Given the description of an element on the screen output the (x, y) to click on. 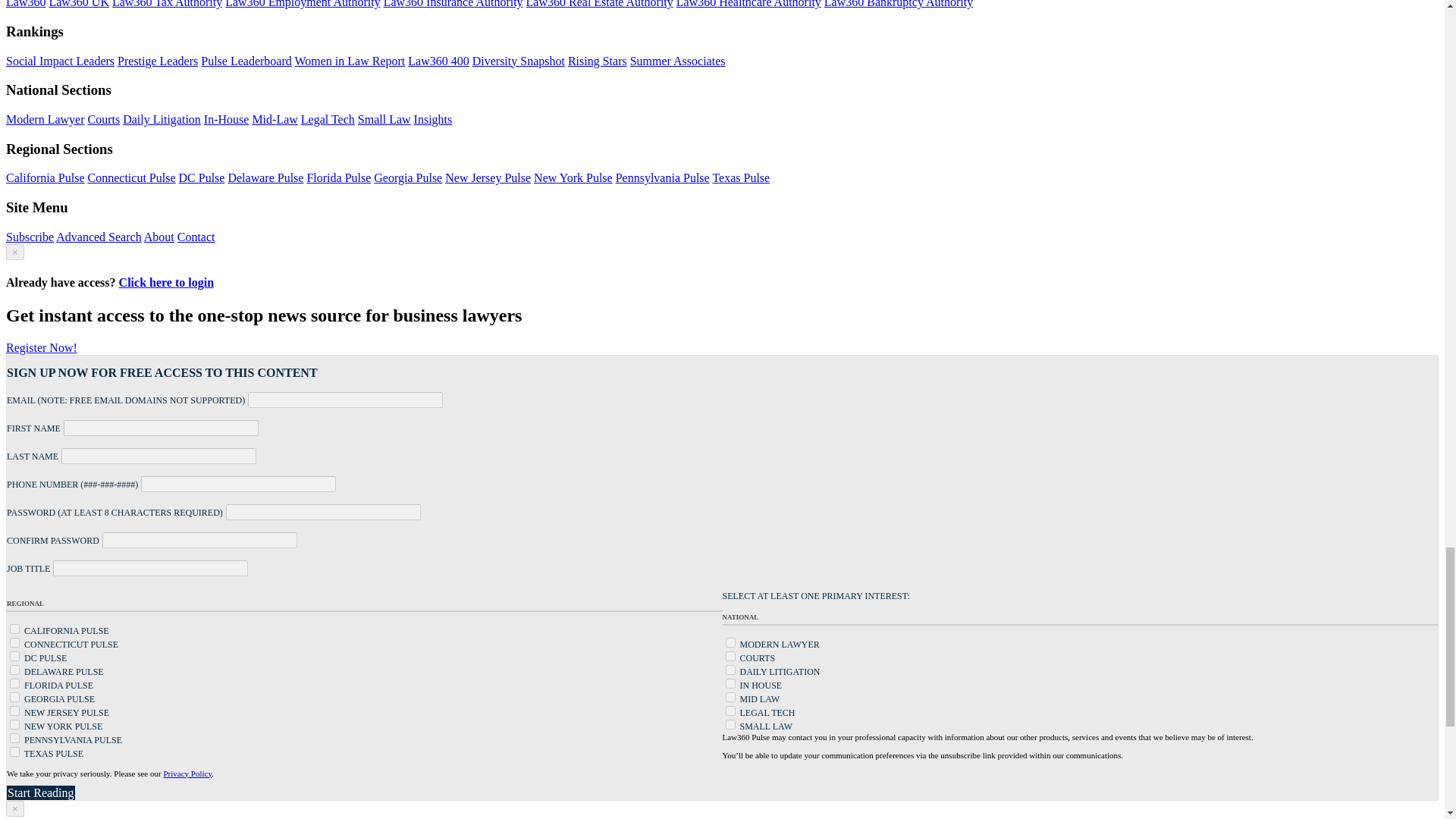
florida-pulse (15, 683)
new-york-pulse (15, 724)
new-jersey-pulse (15, 710)
dc-pulse (15, 655)
modern-lawyer (730, 642)
delaware-pulse (15, 669)
texas-pulse (15, 751)
california-pulse (15, 628)
pennsylvania-pulse (15, 737)
georgia-pulse (15, 696)
connecticut-pulse (15, 642)
